Given the description of an element on the screen output the (x, y) to click on. 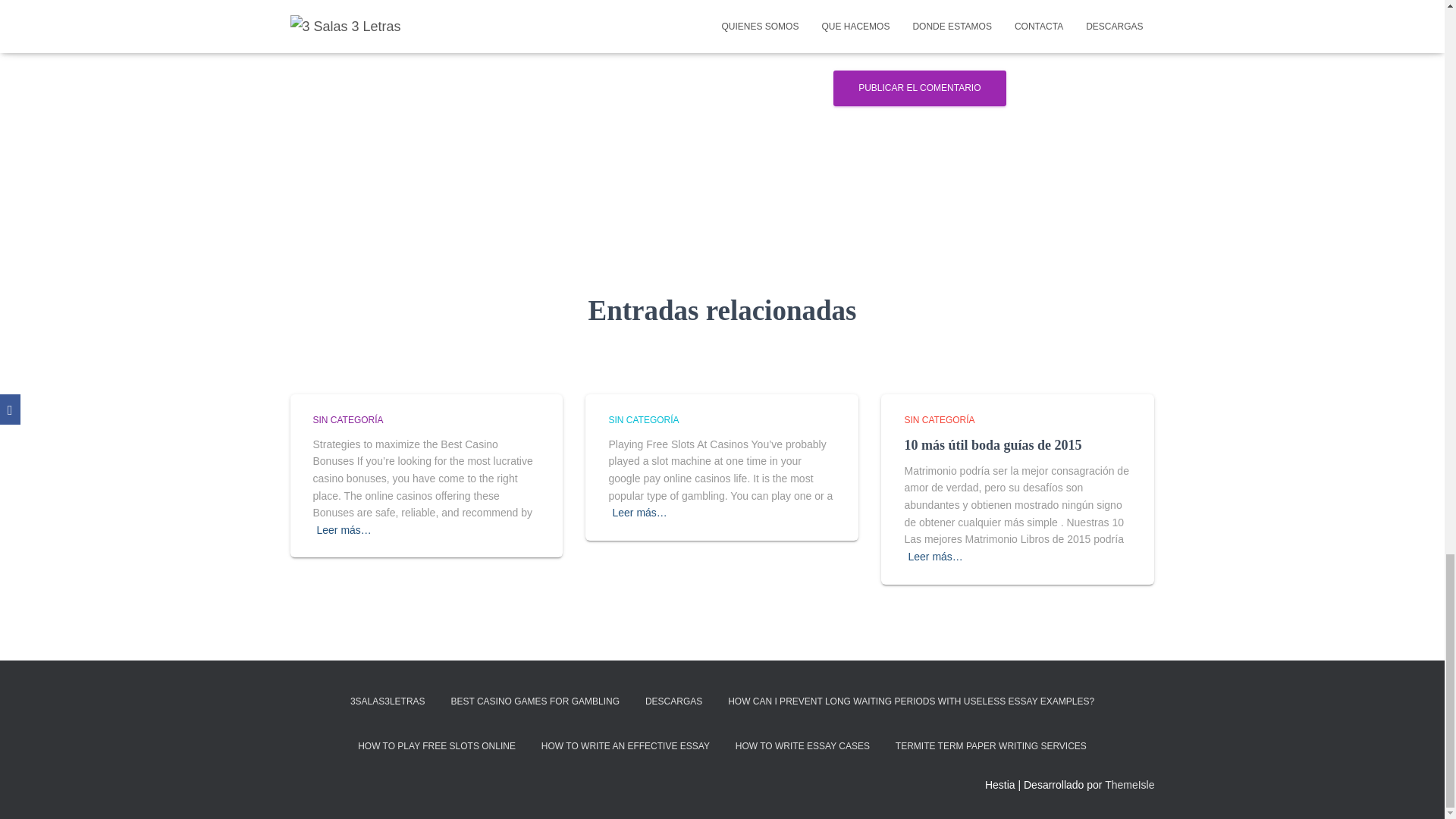
3SALAS3LETRAS (387, 701)
BEST CASINO GAMES FOR GAMBLING (534, 701)
ThemeIsle (1129, 784)
HOW TO PLAY FREE SLOTS ONLINE (436, 746)
Publicar el comentario (919, 88)
Publicar el comentario (919, 88)
TERMITE TERM PAPER WRITING SERVICES (990, 746)
HOW TO WRITE ESSAY CASES (801, 746)
yes (521, 41)
